Given the description of an element on the screen output the (x, y) to click on. 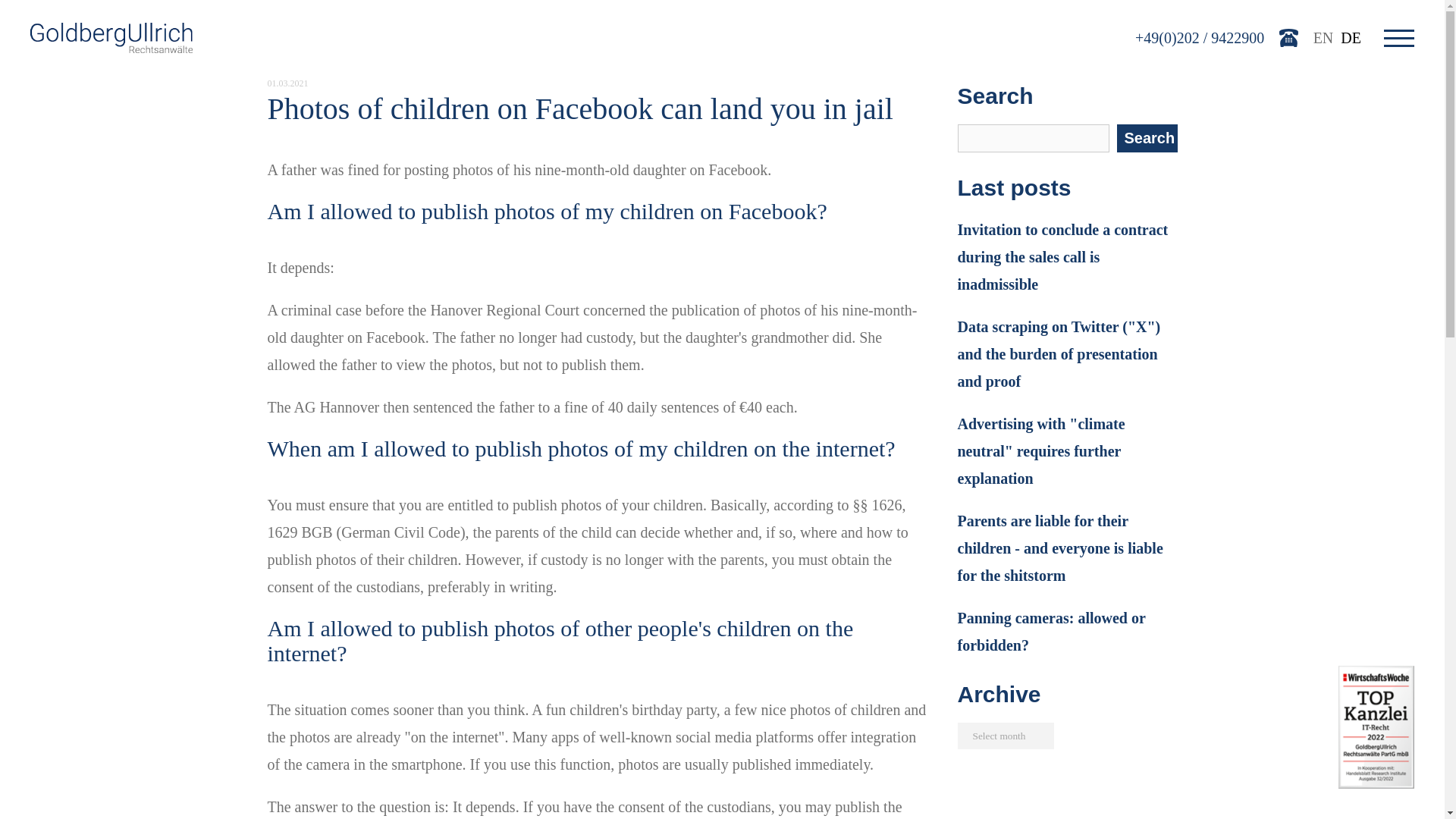
Panning cameras: allowed or forbidden? (1066, 631)
DE (1350, 37)
Search (1146, 138)
Photos of children on Facebook can land you in jail (579, 108)
Language switcher : German (1350, 37)
